Given the description of an element on the screen output the (x, y) to click on. 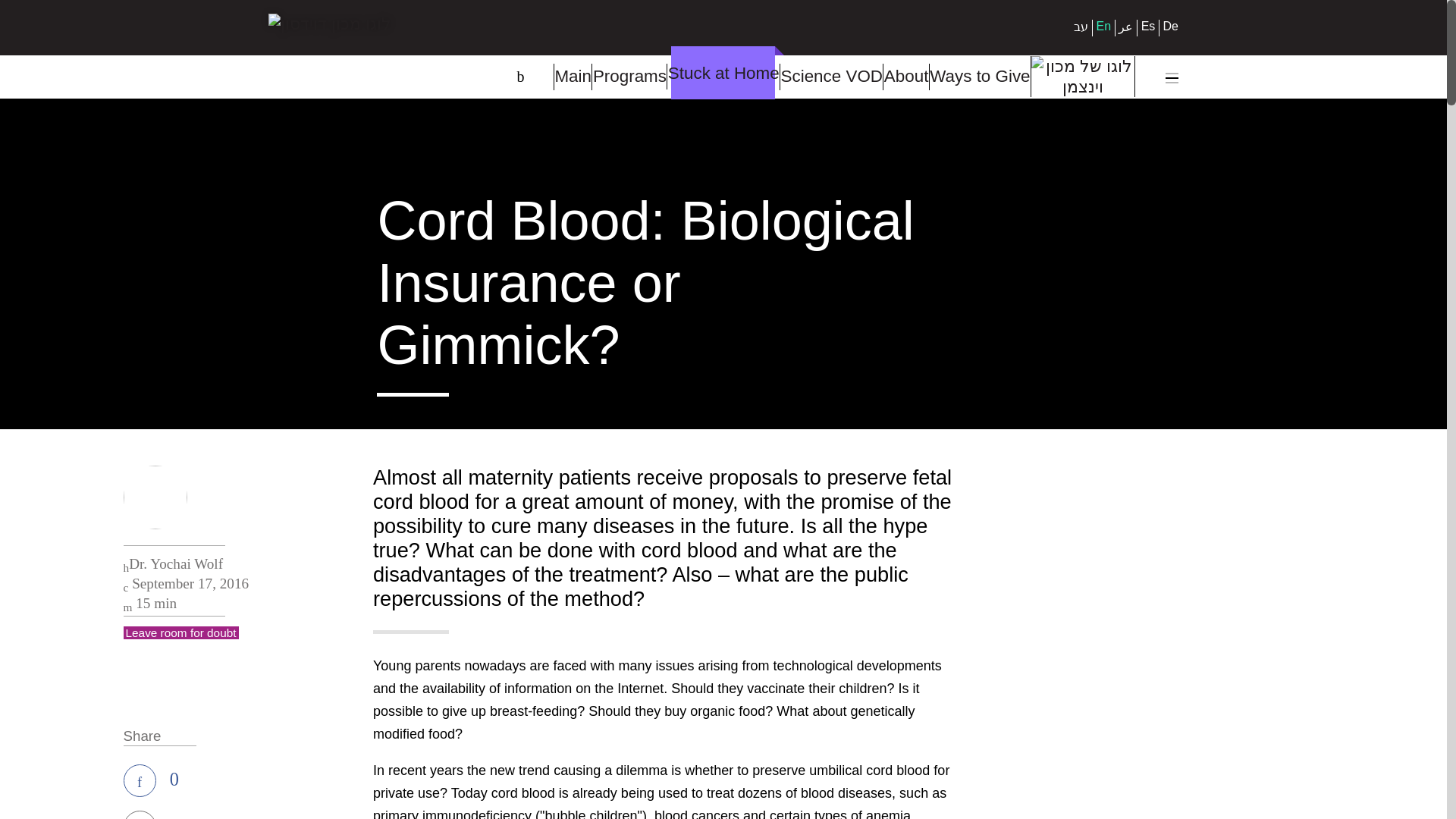
En (1104, 25)
About (905, 76)
Main (572, 76)
Science VOD (830, 76)
Stuck at Home (722, 76)
Ways to Give (979, 76)
Es (1148, 25)
Home (329, 55)
Programs (628, 76)
De (1170, 25)
